Given the description of an element on the screen output the (x, y) to click on. 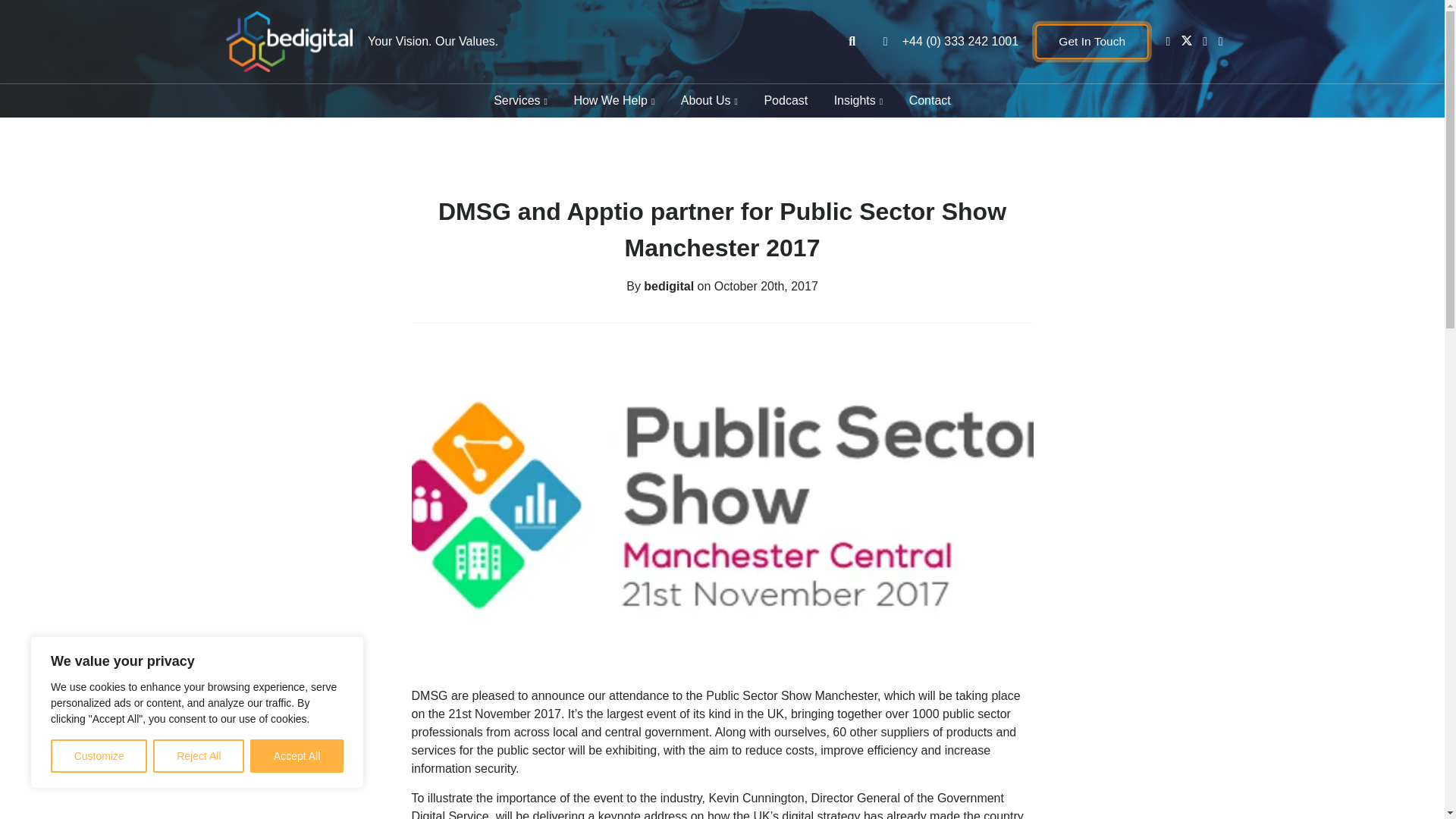
Customize (98, 756)
Get In Touch (1093, 41)
Services (520, 100)
Home (286, 41)
Get In Touch (1091, 41)
How We Help (613, 100)
Accept All (296, 756)
About Us (709, 100)
Reject All (198, 756)
